Given the description of an element on the screen output the (x, y) to click on. 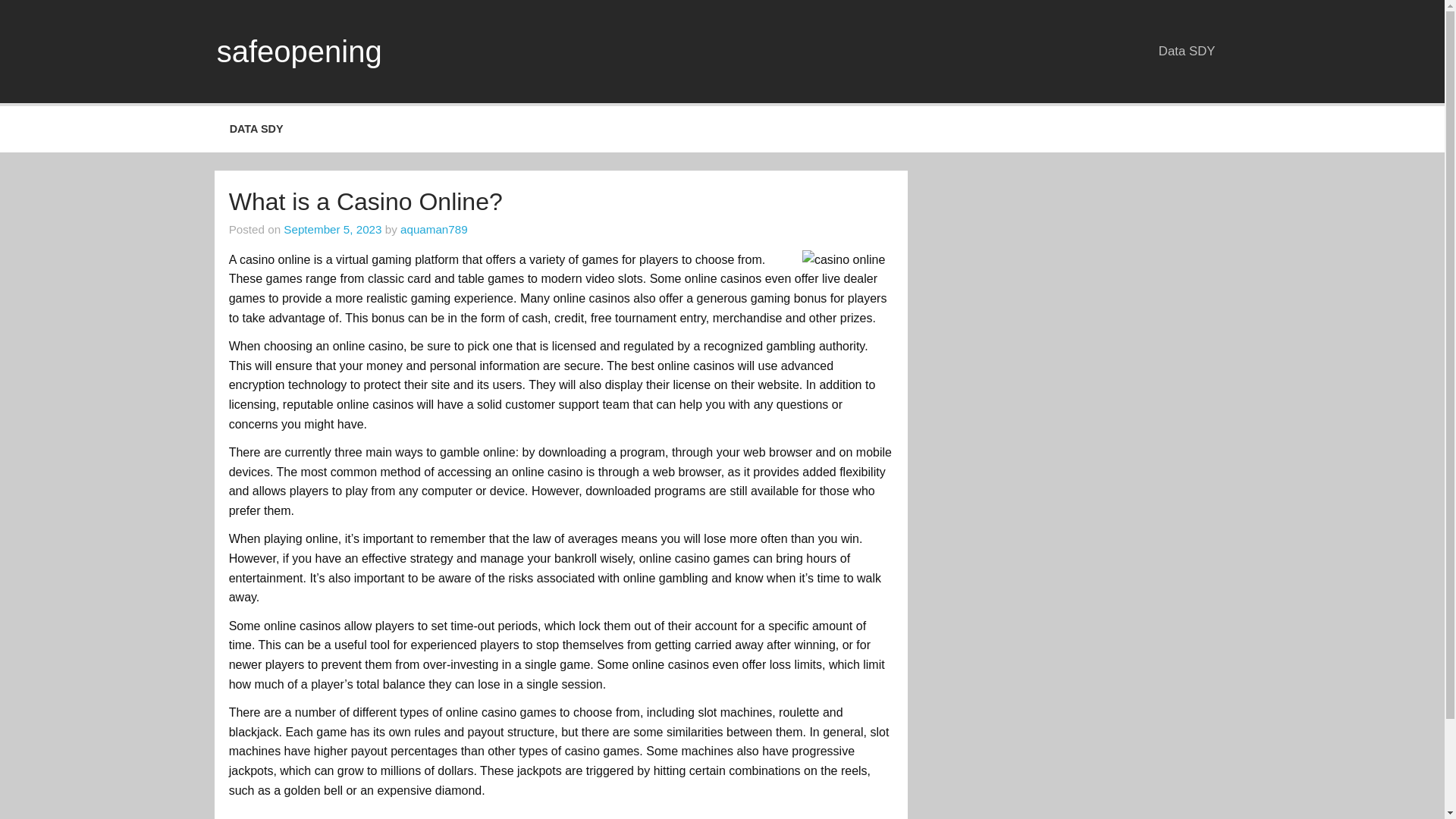
View all posts by aquaman789 (433, 228)
aquaman789 (433, 228)
6:07 am (332, 228)
Data SDY (1186, 51)
safeopening (298, 51)
DATA SDY (256, 128)
September 5, 2023 (332, 228)
